Given the description of an element on the screen output the (x, y) to click on. 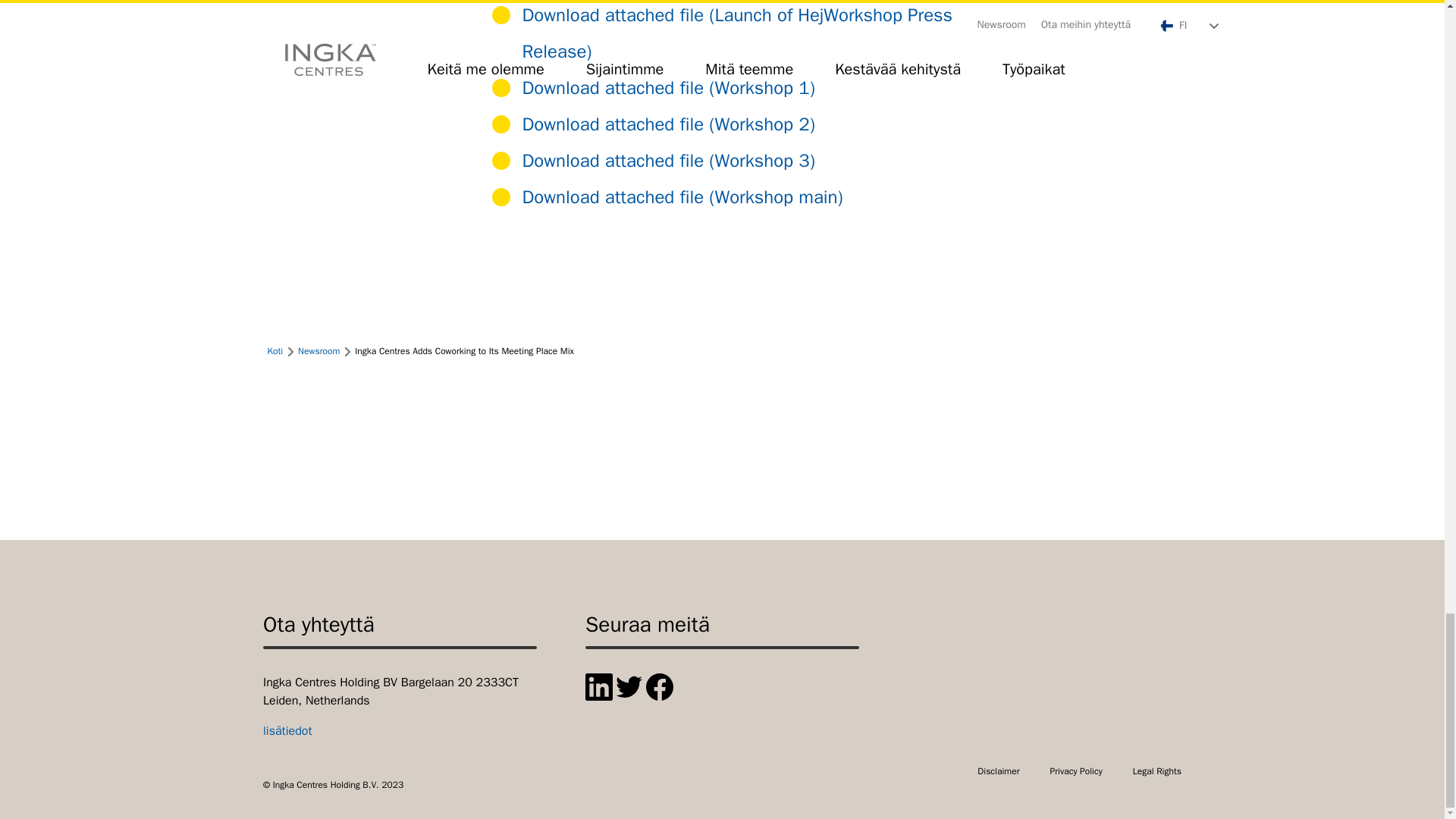
Koti (274, 350)
Privacy Policy (1075, 771)
Newsroom (318, 350)
Disclaimer (997, 771)
Legal Rights (1156, 771)
